Given the description of an element on the screen output the (x, y) to click on. 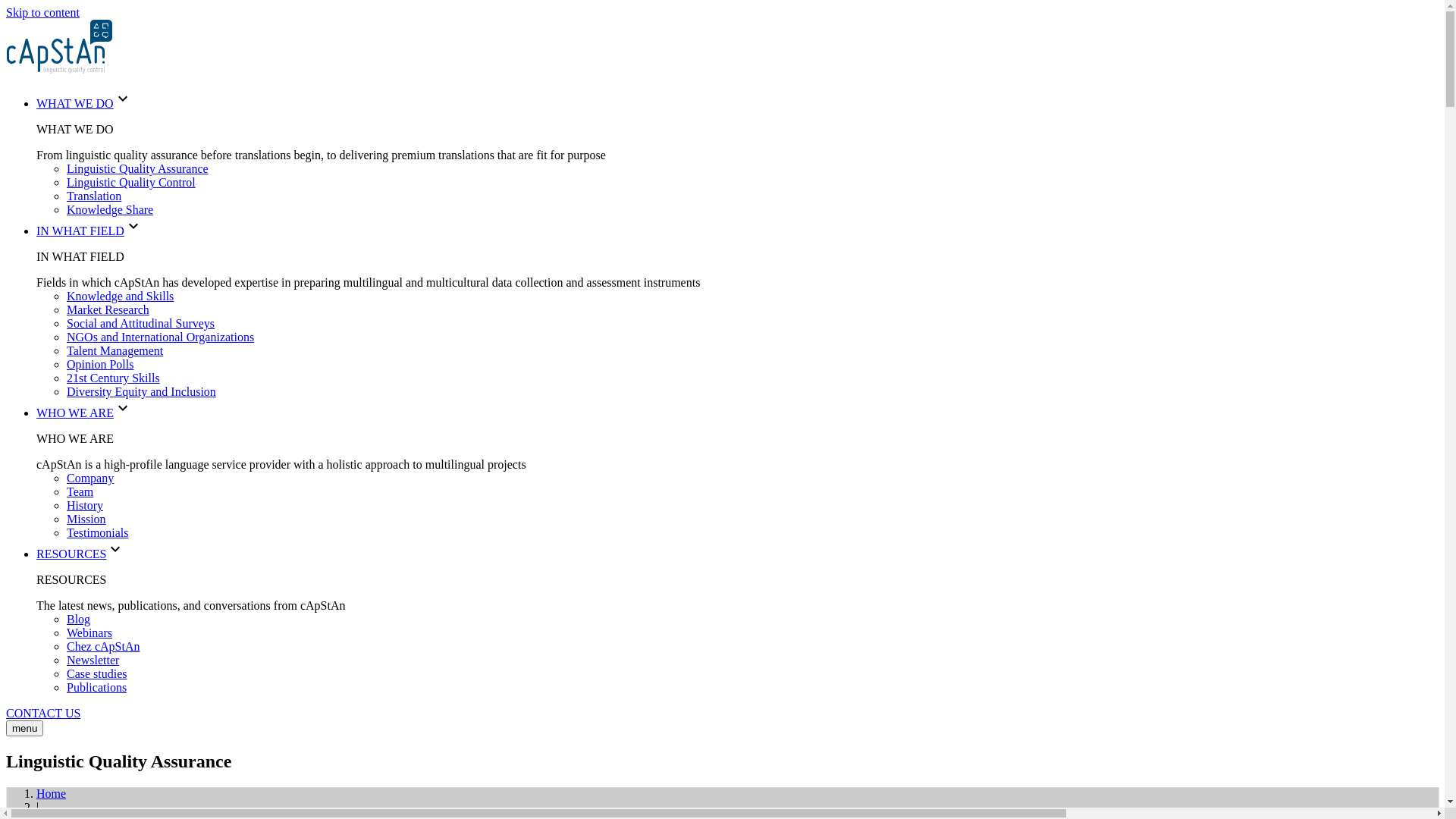
NGOs and International Organizations Element type: text (160, 336)
Chez cApStAn Element type: text (102, 646)
Team Element type: text (79, 491)
Publications Element type: text (96, 686)
Knowledge and Skills Element type: text (119, 295)
Social and Attitudinal Surveys Element type: text (140, 322)
Newsletter Element type: text (92, 659)
Blog Element type: text (78, 618)
Market Research Element type: text (107, 309)
Testimonials Element type: text (97, 532)
WHO WE ARE Element type: text (74, 412)
Skip to content Element type: text (42, 12)
CONTACT US Element type: text (43, 712)
Home Element type: text (50, 793)
Translation Element type: text (93, 195)
Knowledge Share Element type: text (109, 209)
Mission Element type: text (86, 518)
Company Element type: text (89, 477)
21st Century Skills Element type: text (113, 377)
Linguistic Quality Control Element type: text (130, 181)
menu Element type: text (24, 728)
Diversity Equity and Inclusion Element type: text (141, 391)
Webinars Element type: text (89, 632)
Opinion Polls Element type: text (99, 363)
Linguistic Quality Assurance Element type: text (137, 168)
Talent Management Element type: text (114, 350)
IN WHAT FIELD Element type: text (80, 230)
Case studies Element type: text (96, 673)
History Element type: text (84, 504)
WHAT WE DO Element type: text (74, 103)
RESOURCES Element type: text (71, 553)
